Given the description of an element on the screen output the (x, y) to click on. 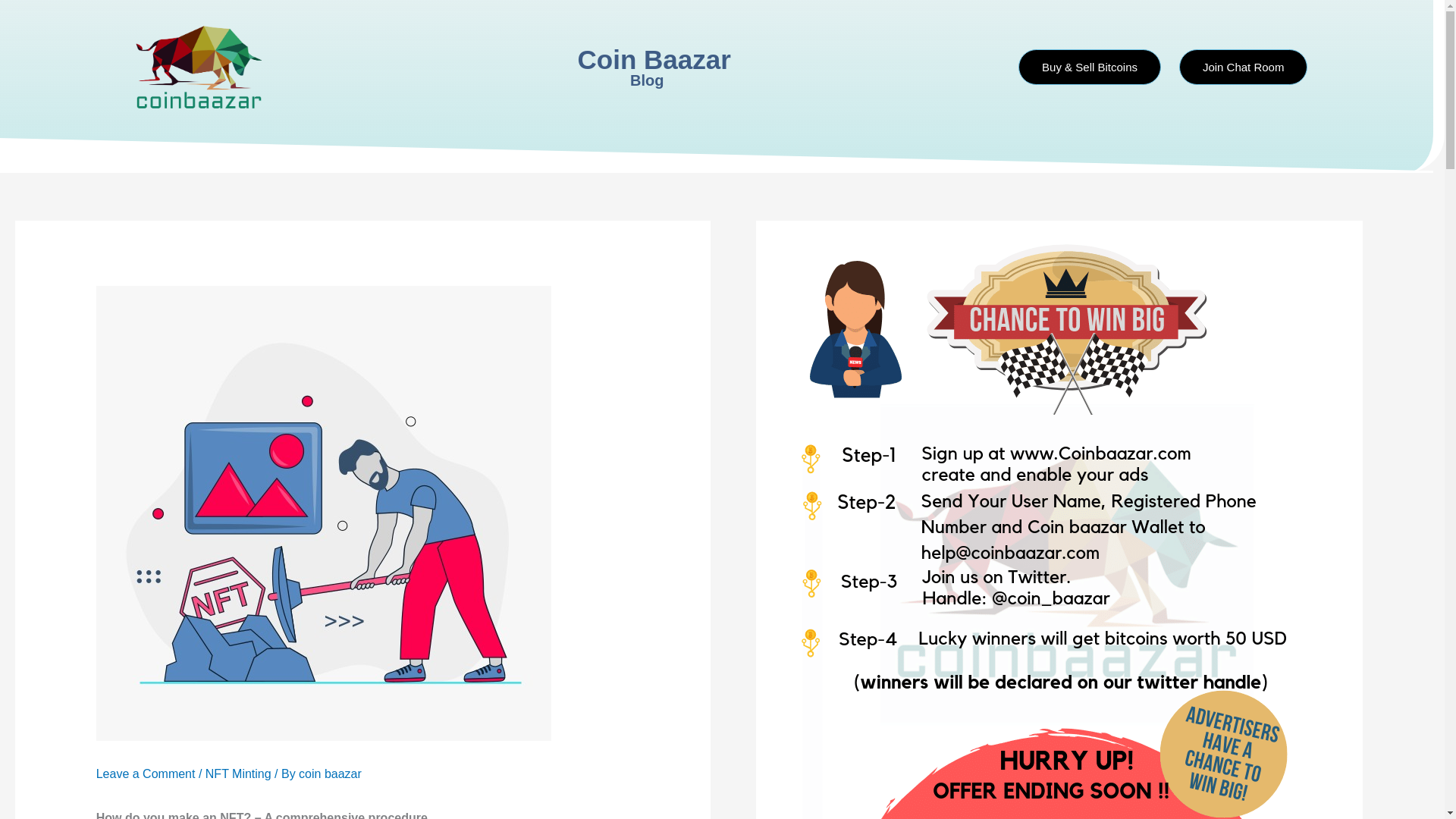
NFT Minting (237, 773)
Leave a Comment (145, 773)
View all posts by coin baazar (329, 773)
coin baazar (329, 773)
Join Chat Room (1243, 67)
Search (980, 66)
